Given the description of an element on the screen output the (x, y) to click on. 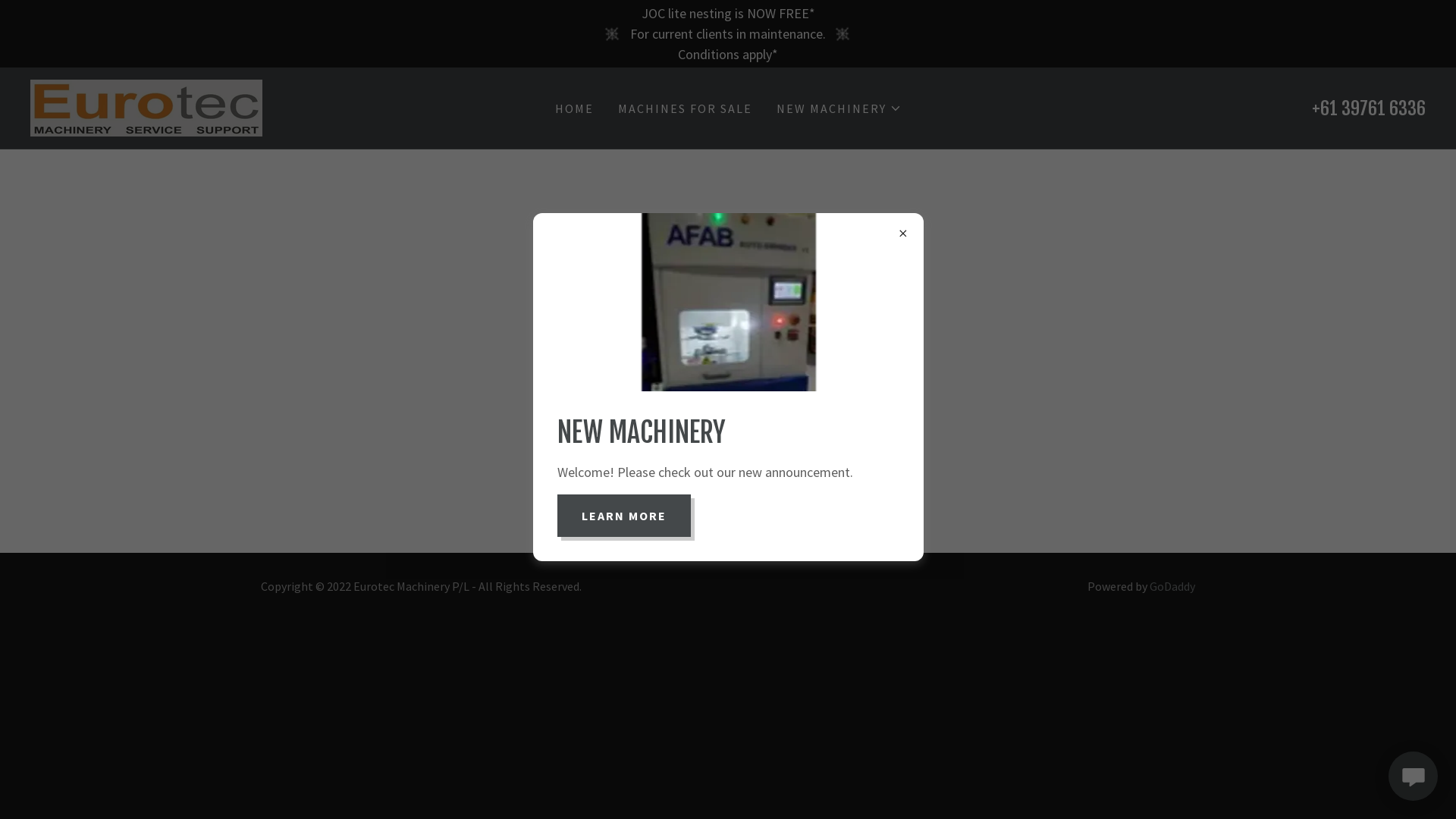
GO TO HOME PAGE Element type: text (727, 407)
NEW MACHINERY Element type: text (838, 107)
HOME Element type: text (574, 107)
GoDaddy Element type: text (1172, 585)
MACHINES FOR SALE Element type: text (684, 107)
Eurotec Machinery P/L Element type: hover (146, 106)
+61 39761 6336 Element type: text (1368, 108)
LEARN MORE Element type: text (623, 515)
